Given the description of an element on the screen output the (x, y) to click on. 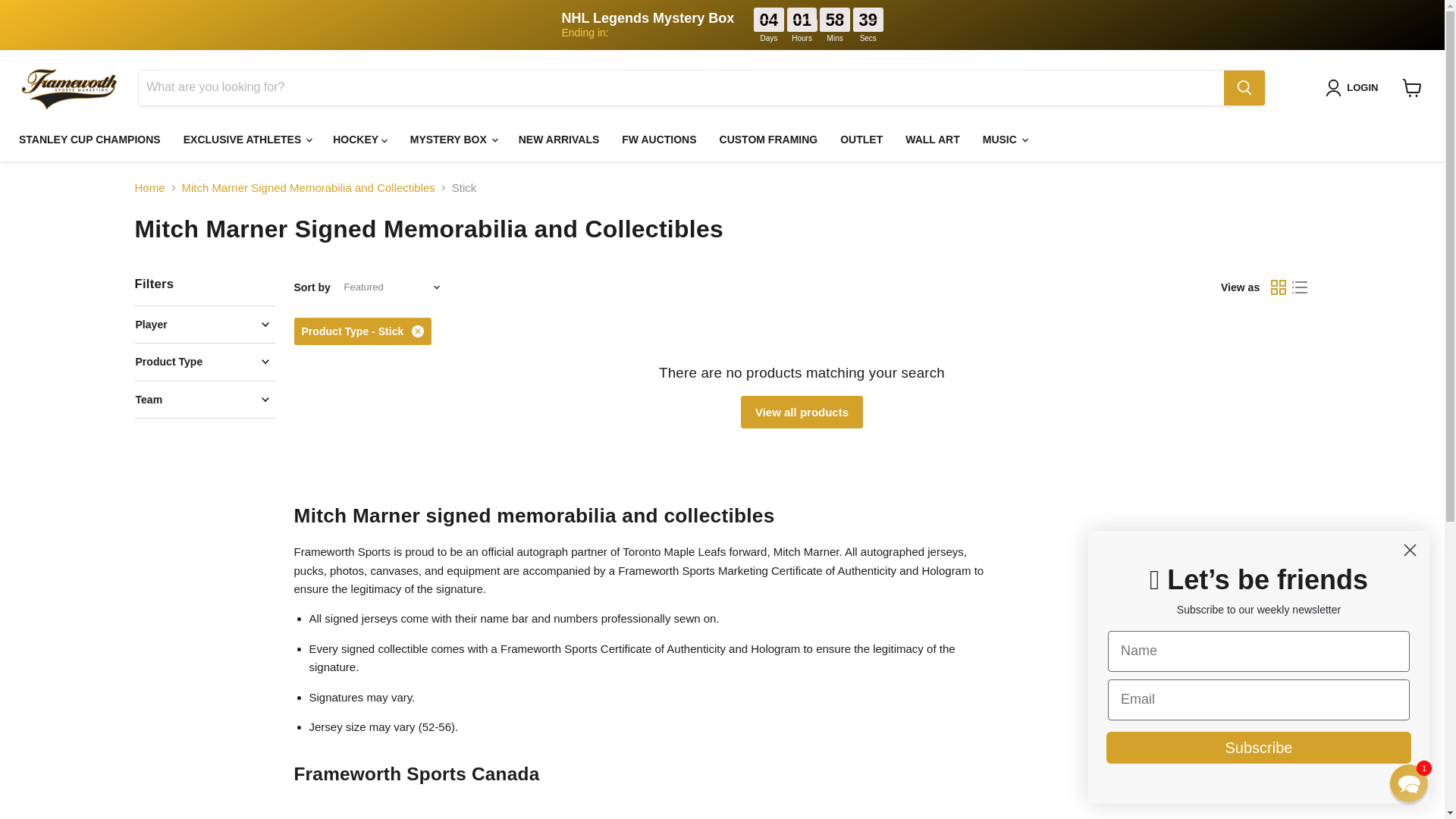
LOGIN (1354, 87)
STANLEY CUP CHAMPIONS (89, 139)
View cart (1411, 87)
